Given the description of an element on the screen output the (x, y) to click on. 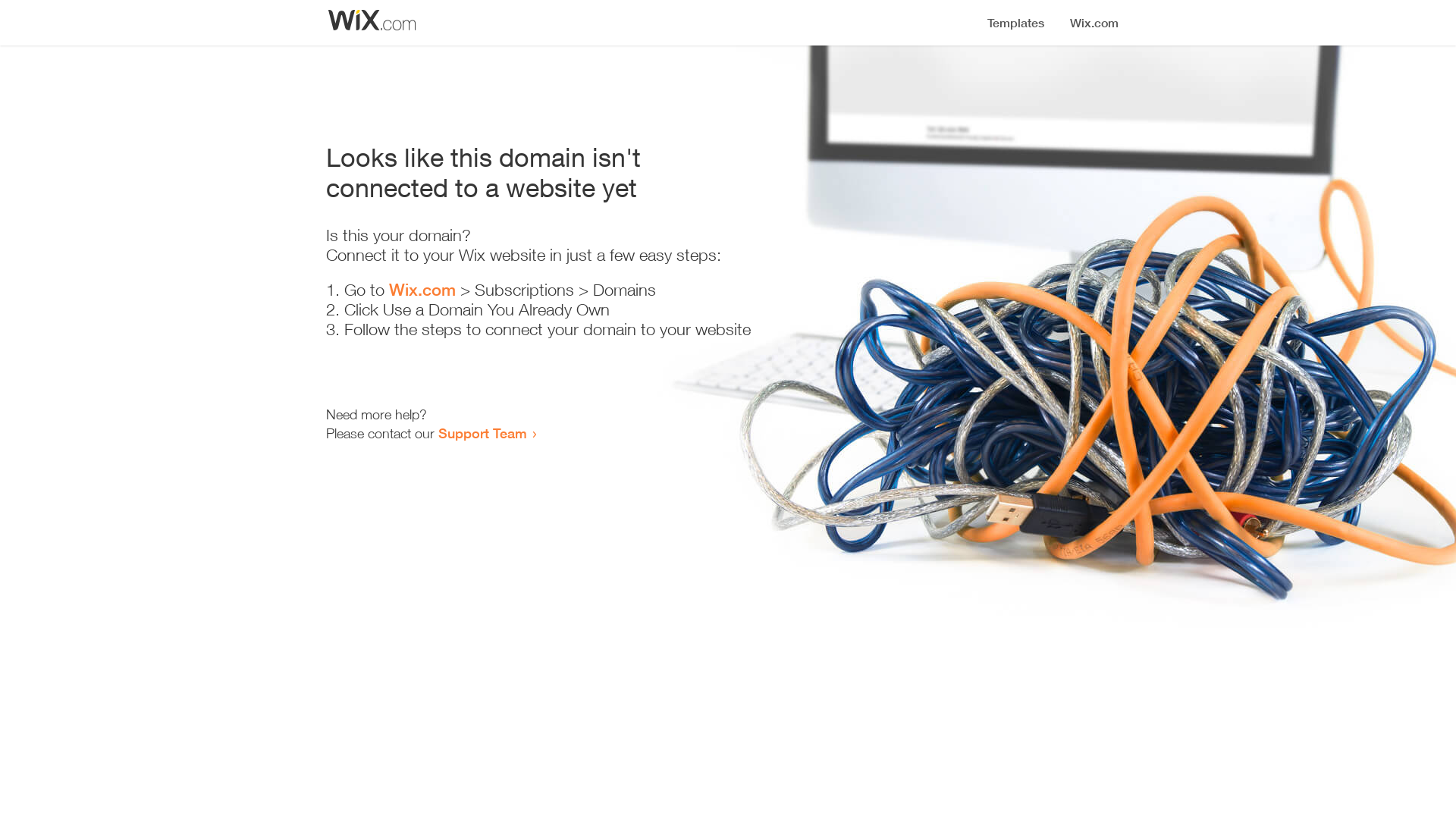
Support Team Element type: text (482, 432)
Wix.com Element type: text (422, 289)
